Given the description of an element on the screen output the (x, y) to click on. 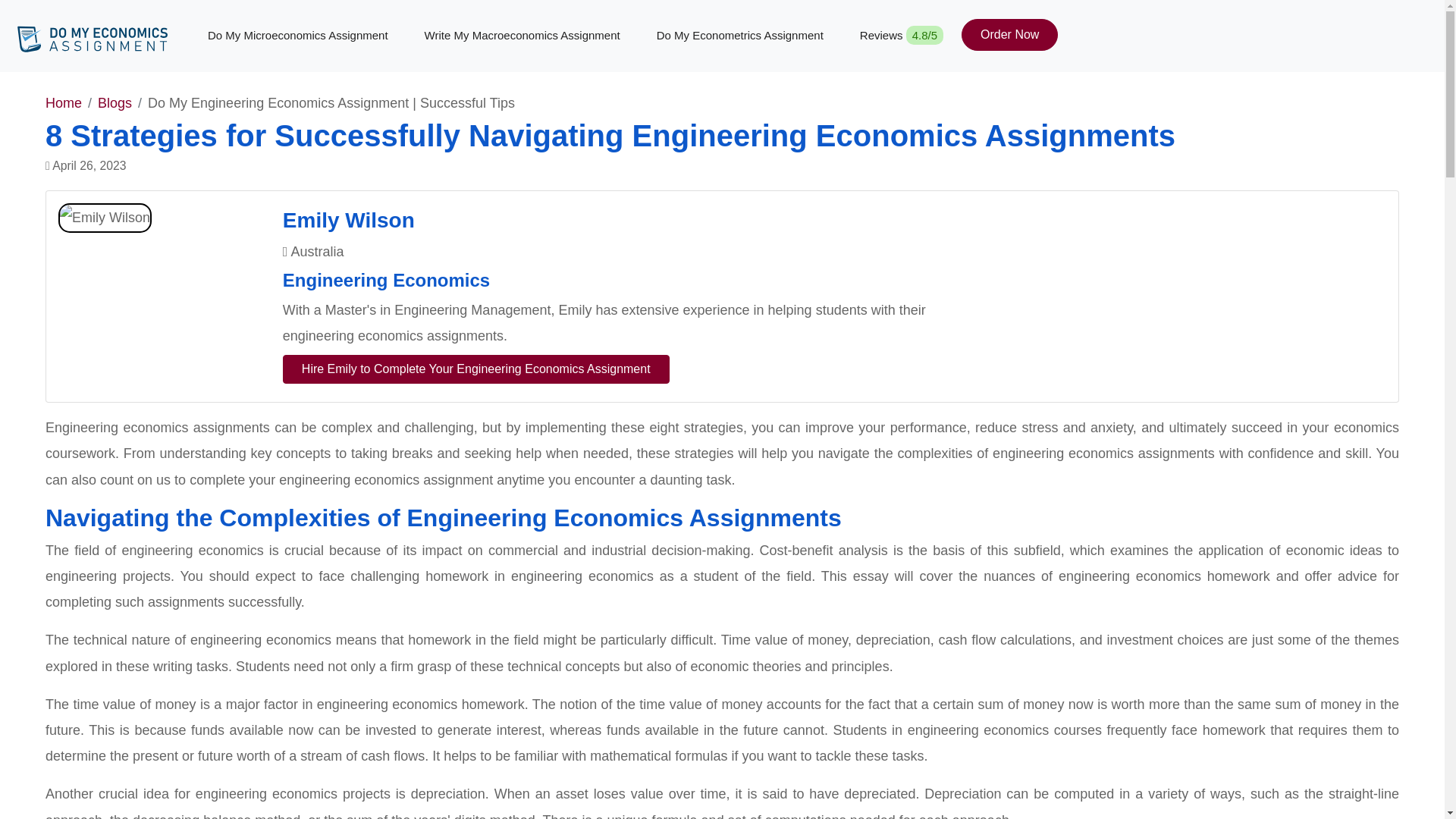
succeed in your economics coursework (722, 440)
Do My Econometrics Assignment (740, 35)
Write My Macroeconomics Assignment (522, 35)
Order Now (1009, 34)
Home (63, 102)
complete your engineering economics assignment (341, 478)
Blogs (114, 102)
Hire Emily to Complete Your Engineering Economics Assignment (475, 369)
Do My Microeconomics Assignment (297, 35)
